Given the description of an element on the screen output the (x, y) to click on. 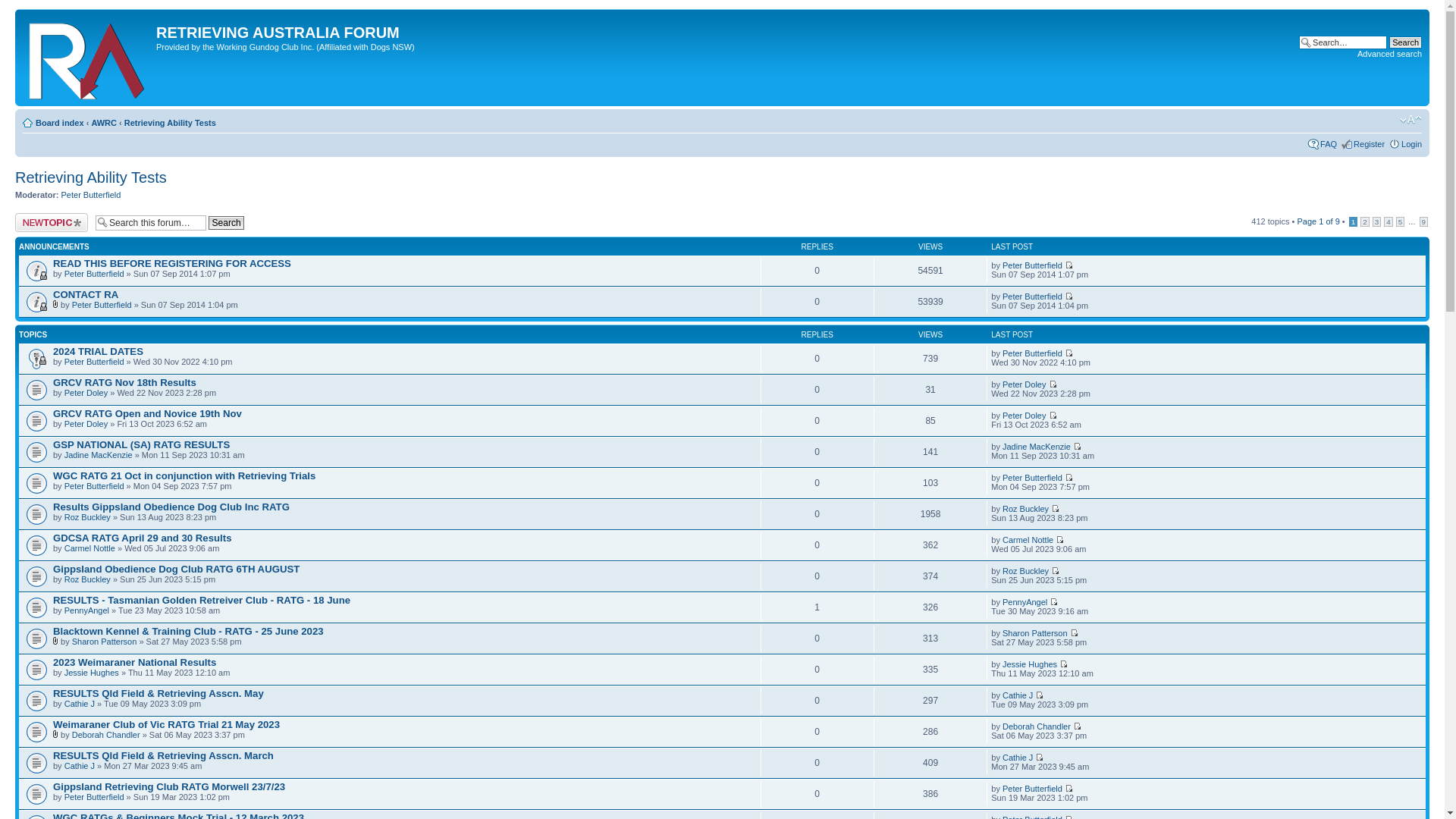
Roz Buckley Element type: text (1025, 570)
Page 1 of 9 Element type: text (1317, 220)
Deborah Chandler Element type: text (106, 734)
Roz Buckley Element type: text (1025, 508)
READ THIS BEFORE REGISTERING FOR ACCESS Element type: text (172, 263)
Peter Butterfield Element type: text (101, 304)
RESULTS - Tasmanian Golden Retreiver Club - RATG - 18 June Element type: text (201, 599)
RESULTS Qld Field & Retrieving Asscn. March Element type: text (163, 755)
Cathie J Element type: text (1017, 694)
Jadine MacKenzie Element type: text (1036, 446)
Deborah Chandler Element type: text (1036, 726)
View the latest post Element type: hover (1077, 725)
4 Element type: text (1388, 221)
Attachment(s) Element type: hover (55, 733)
Jessie Hughes Element type: text (1029, 663)
Peter Butterfield Element type: text (1032, 264)
Peter Doley Element type: text (85, 423)
Peter Butterfield Element type: text (1032, 352)
Peter Butterfield Element type: text (94, 361)
View the latest post Element type: hover (1052, 383)
Cathie J Element type: text (1017, 757)
View the latest post Element type: hover (1068, 787)
Peter Butterfield Element type: text (1032, 296)
View the latest post Element type: hover (1053, 601)
CONTACT RA Element type: text (85, 294)
Sharon Patterson Element type: text (1034, 632)
Change font size Element type: text (1410, 119)
View the latest post Element type: hover (1059, 539)
View the latest post Element type: hover (1074, 632)
GDCSA RATG April 29 and 30 Results Element type: text (142, 537)
2023 Weimaraner National Results Element type: text (134, 662)
Search Element type: text (1405, 42)
Cathie J Element type: text (79, 703)
Gippsland Obedience Dog Club RATG 6TH AUGUST Element type: text (176, 568)
Jadine MacKenzie Element type: text (98, 454)
Weimaraner Club of Vic RATG Trial 21 May 2023 Element type: text (166, 724)
View the latest post Element type: hover (1068, 295)
9 Element type: text (1423, 221)
2 Element type: text (1364, 221)
View the latest post Element type: hover (1077, 445)
Login Element type: text (1411, 143)
GRCV RATG Open and Novice 19th Nov Element type: text (147, 413)
Search Element type: text (225, 222)
5 Element type: text (1400, 221)
View the latest post Element type: hover (1052, 414)
View the latest post Element type: hover (1039, 694)
Advanced search Element type: text (1389, 53)
View the latest post Element type: hover (1039, 756)
Search for keywords Element type: hover (1342, 42)
View the latest post Element type: hover (1068, 264)
Gippsland Retrieving Club RATG Morwell 23/7/23 Element type: text (169, 786)
Retrieving Ability Tests Element type: text (170, 122)
3 Element type: text (1376, 221)
Results Gippsland Obedience Dog Club Inc RATG Element type: text (171, 506)
Retrieving Ability Tests Element type: text (90, 177)
FAQ Element type: text (1328, 143)
View the latest post Element type: hover (1068, 476)
Attachment(s) Element type: hover (55, 640)
Carmel Nottle Element type: text (1027, 539)
Jessie Hughes Element type: text (91, 672)
Blacktown Kennel & Training Club - RATG - 25 June 2023 Element type: text (188, 631)
2024 TRIAL DATES Element type: text (98, 351)
Peter Doley Element type: text (85, 392)
Carmel Nottle Element type: text (89, 547)
AWRC Element type: text (103, 122)
Sharon Patterson Element type: text (104, 641)
Attachment(s) Element type: hover (55, 303)
View the latest post Element type: hover (1063, 663)
Peter Butterfield Element type: text (1032, 788)
WGC RATG 21 Oct in conjunction with Retrieving Trials Element type: text (184, 475)
Peter Butterfield Element type: text (94, 273)
GSP NATIONAL (SA) RATG RESULTS Element type: text (141, 444)
Peter Butterfield Element type: text (94, 796)
PennyAngel Element type: text (86, 610)
RESULTS Qld Field & Retrieving Asscn. May Element type: text (158, 693)
Board index Element type: hover (87, 57)
Peter Butterfield Element type: text (1032, 477)
Peter Butterfield Element type: text (94, 485)
Roz Buckley Element type: text (87, 516)
Register Element type: text (1368, 143)
View the latest post Element type: hover (1068, 352)
Post a new topic Element type: text (51, 222)
Board index Element type: text (59, 122)
Peter Butterfield Element type: text (91, 194)
View the latest post Element type: hover (1055, 508)
View the latest post Element type: hover (1055, 570)
Peter Doley Element type: text (1023, 384)
PennyAngel Element type: text (1024, 601)
Cathie J Element type: text (79, 765)
Peter Doley Element type: text (1023, 415)
Roz Buckley Element type: text (87, 578)
GRCV RATG Nov 18th Results Element type: text (124, 382)
